Given the description of an element on the screen output the (x, y) to click on. 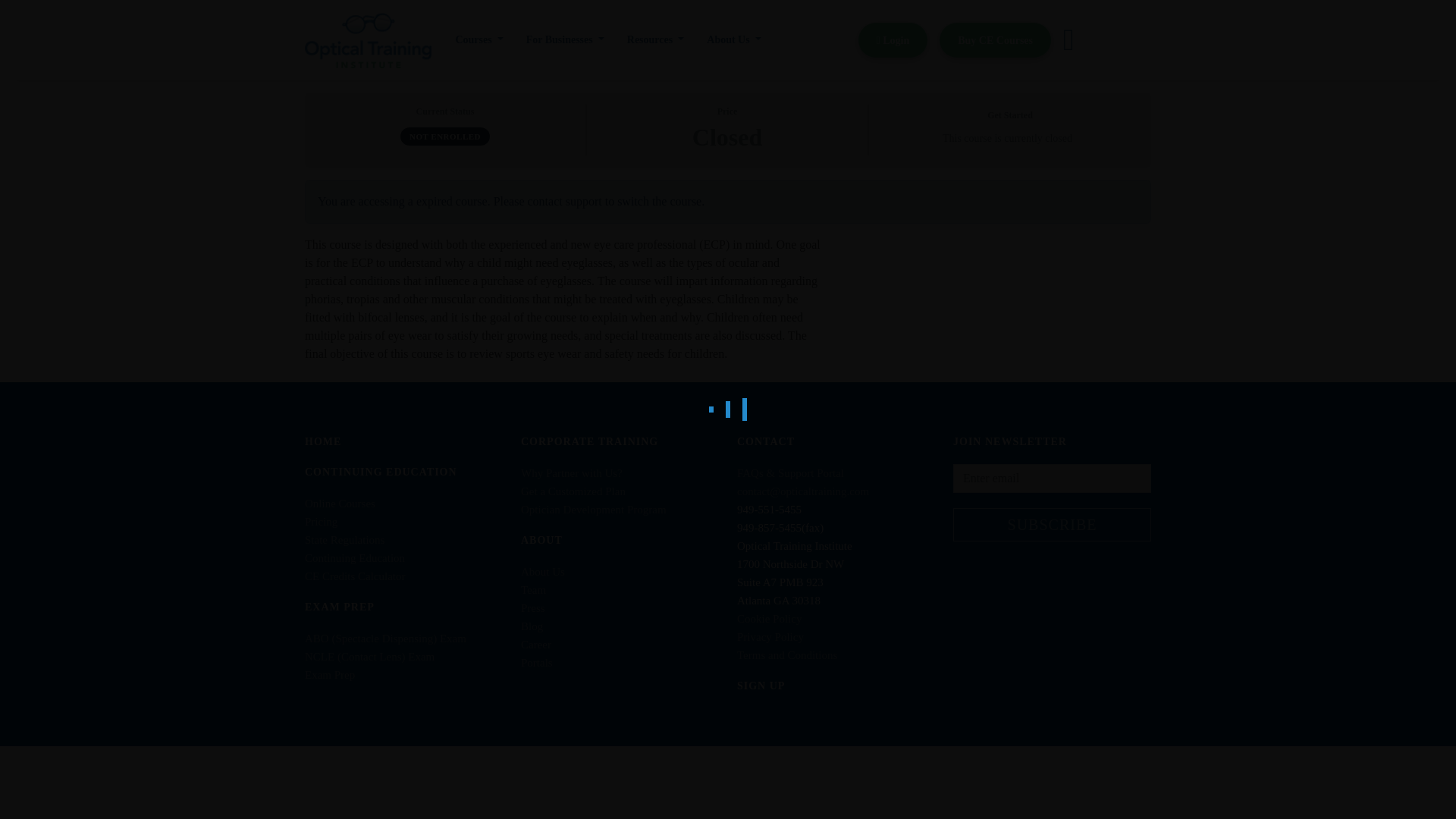
About Us (733, 39)
Resources (655, 39)
Login (893, 40)
For Businesses (565, 39)
Buy CE Courses (995, 40)
Courses (478, 39)
